Given the description of an element on the screen output the (x, y) to click on. 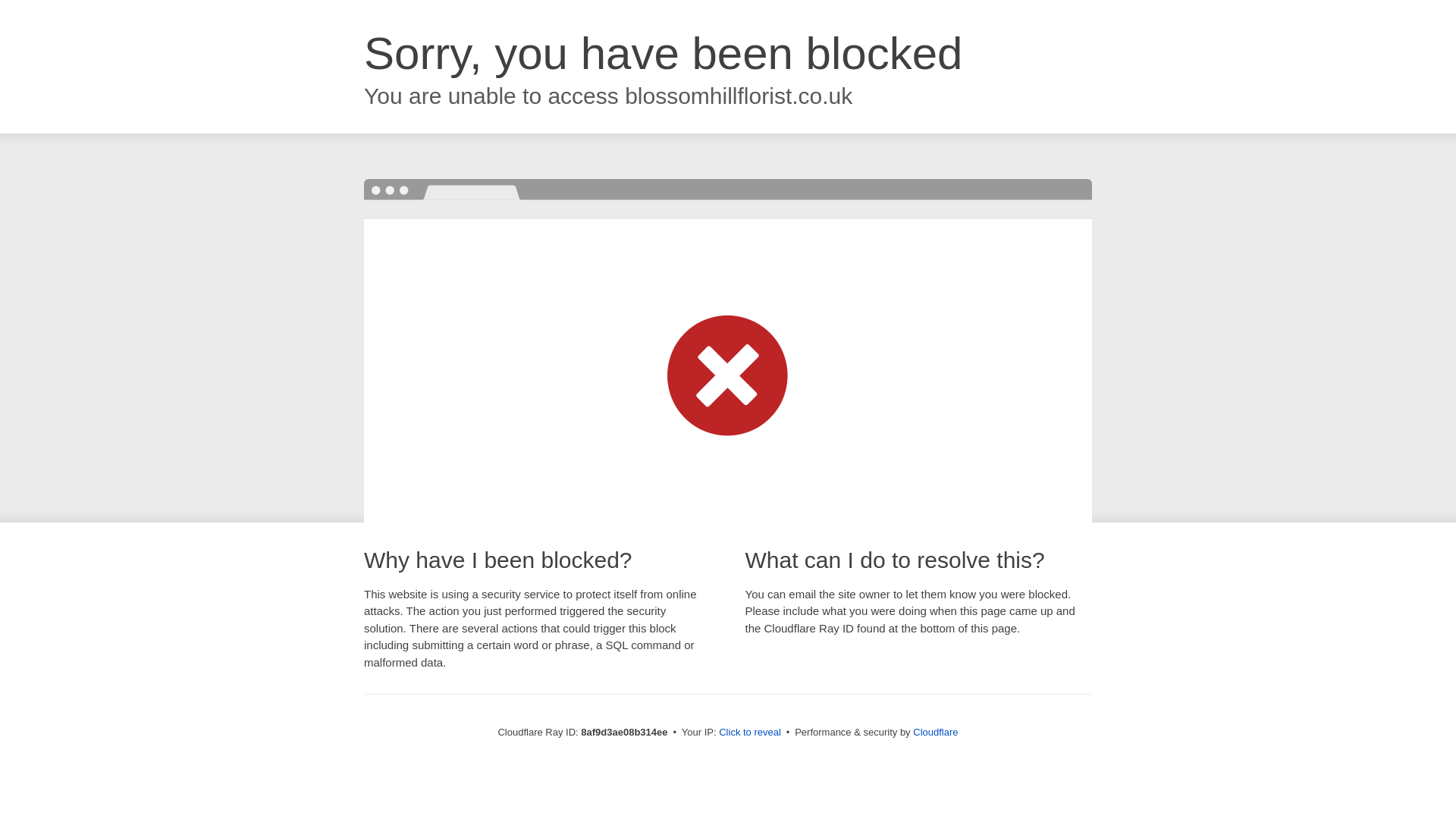
Click to reveal (749, 732)
Cloudflare (935, 731)
